Given the description of an element on the screen output the (x, y) to click on. 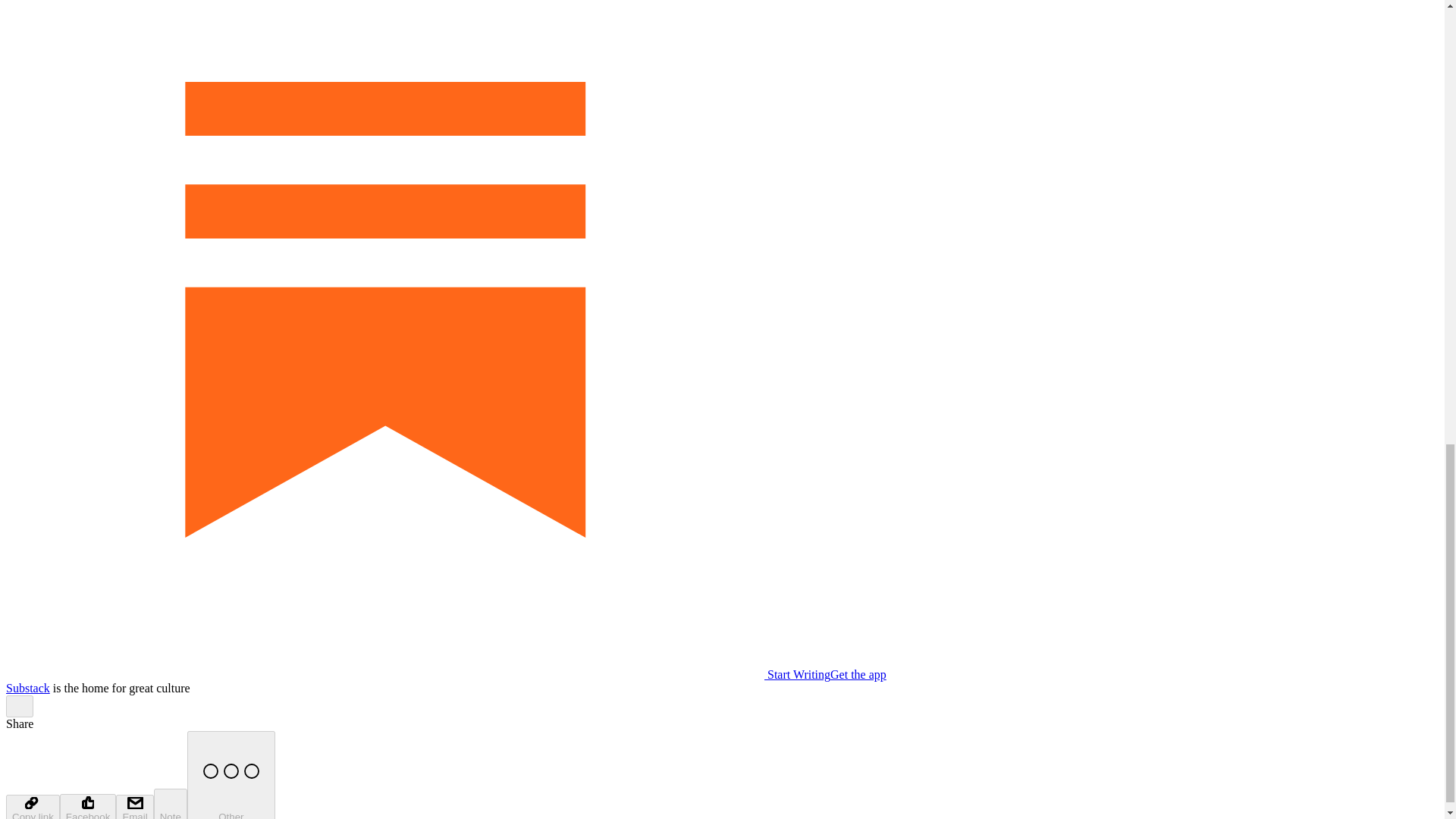
Substack (27, 687)
Get the app (857, 674)
Start Writing (417, 674)
